Given the description of an element on the screen output the (x, y) to click on. 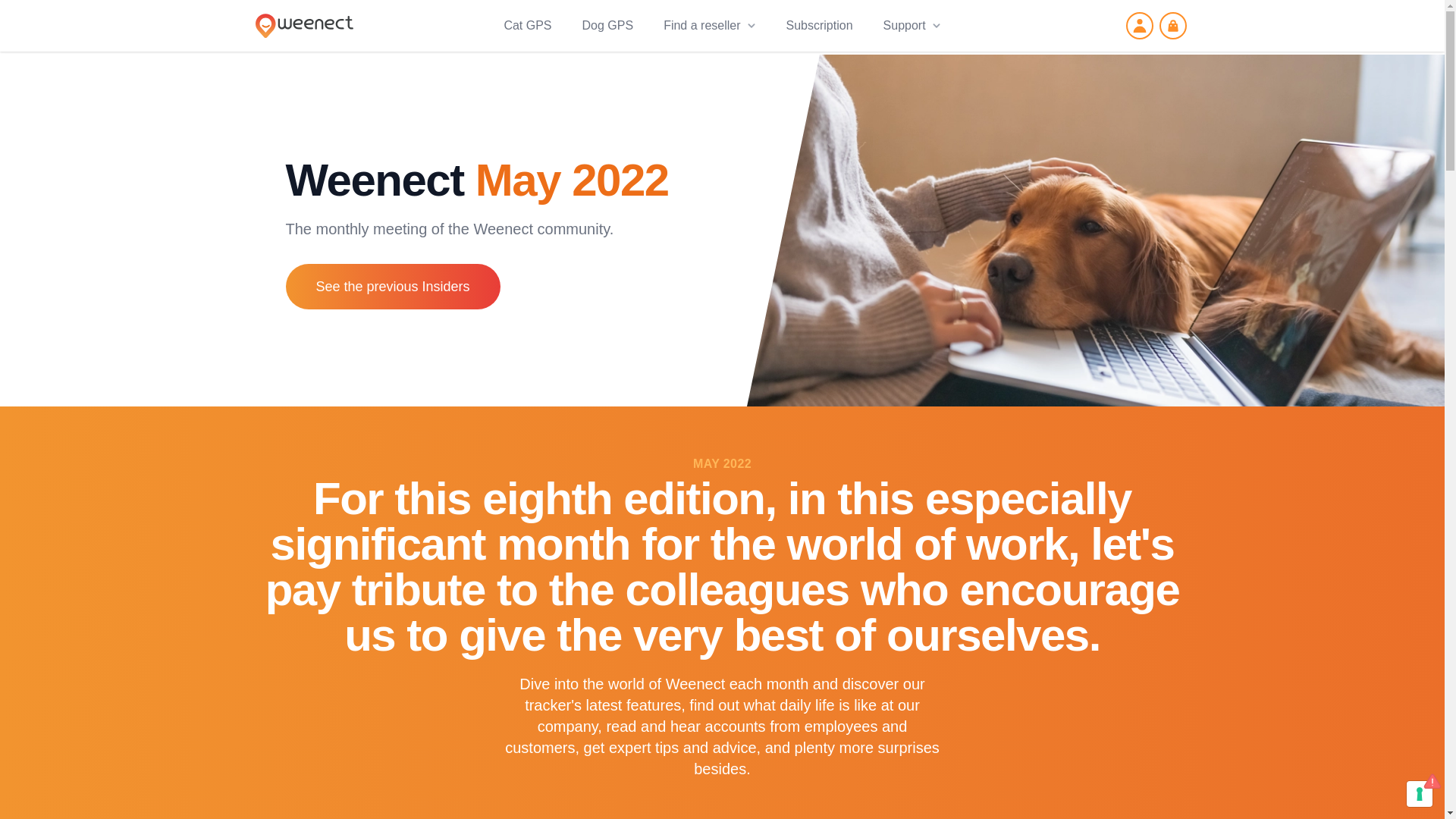
Subscription (819, 25)
Support (911, 25)
Dog GPS (608, 25)
Subscription (819, 25)
Cat GPS (527, 25)
Subscription (819, 25)
Cat GPS (527, 25)
Dog GPS (607, 25)
Cat GPS (527, 25)
See the previous Insiders (392, 286)
Dog GPS (608, 25)
Find a reseller (709, 25)
